Given the description of an element on the screen output the (x, y) to click on. 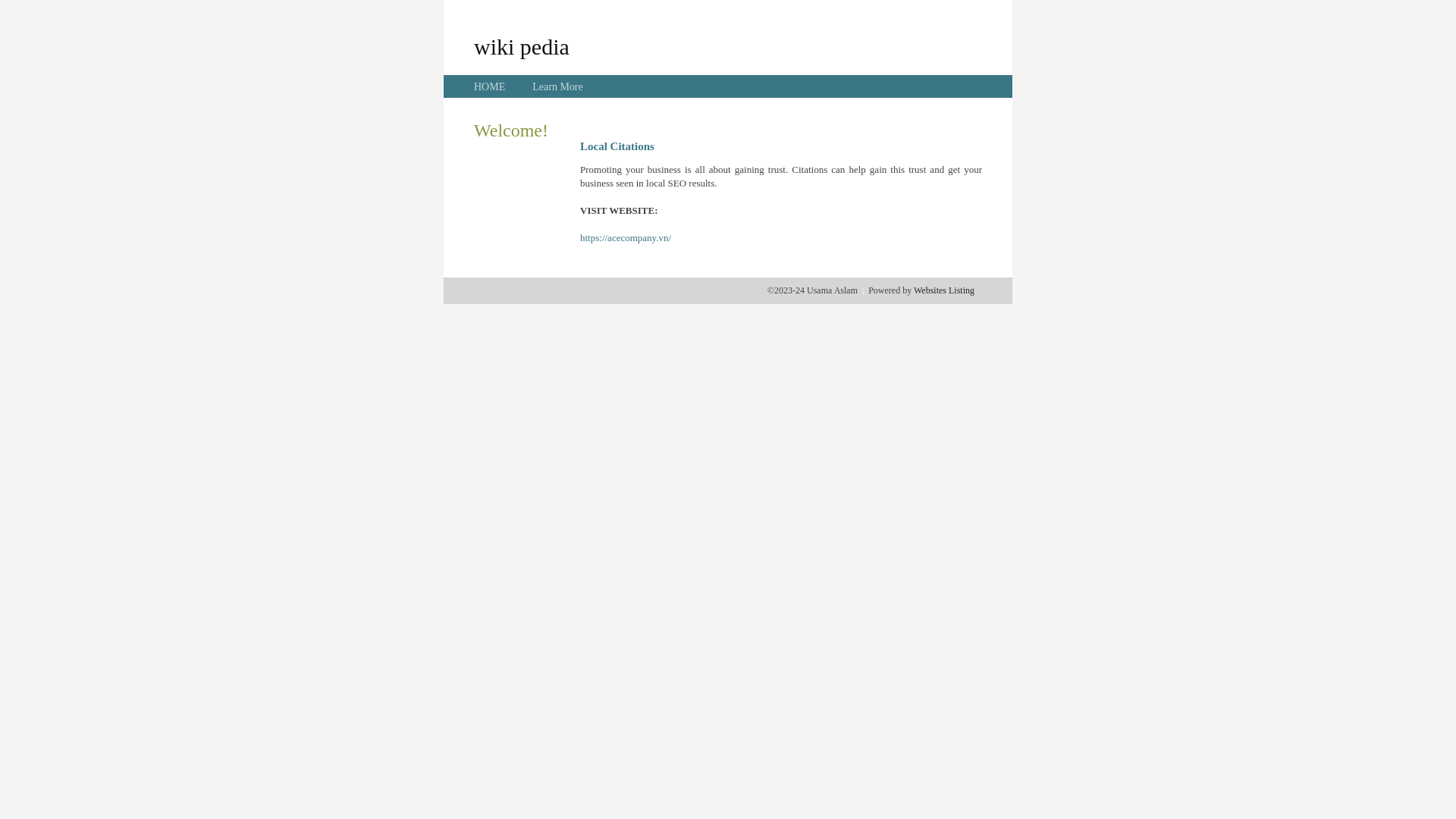
Websites Listing Element type: text (943, 290)
https://acecompany.vn/ Element type: text (625, 237)
HOME Element type: text (489, 86)
wiki pedia Element type: text (521, 46)
Learn More Element type: text (557, 86)
